Given the description of an element on the screen output the (x, y) to click on. 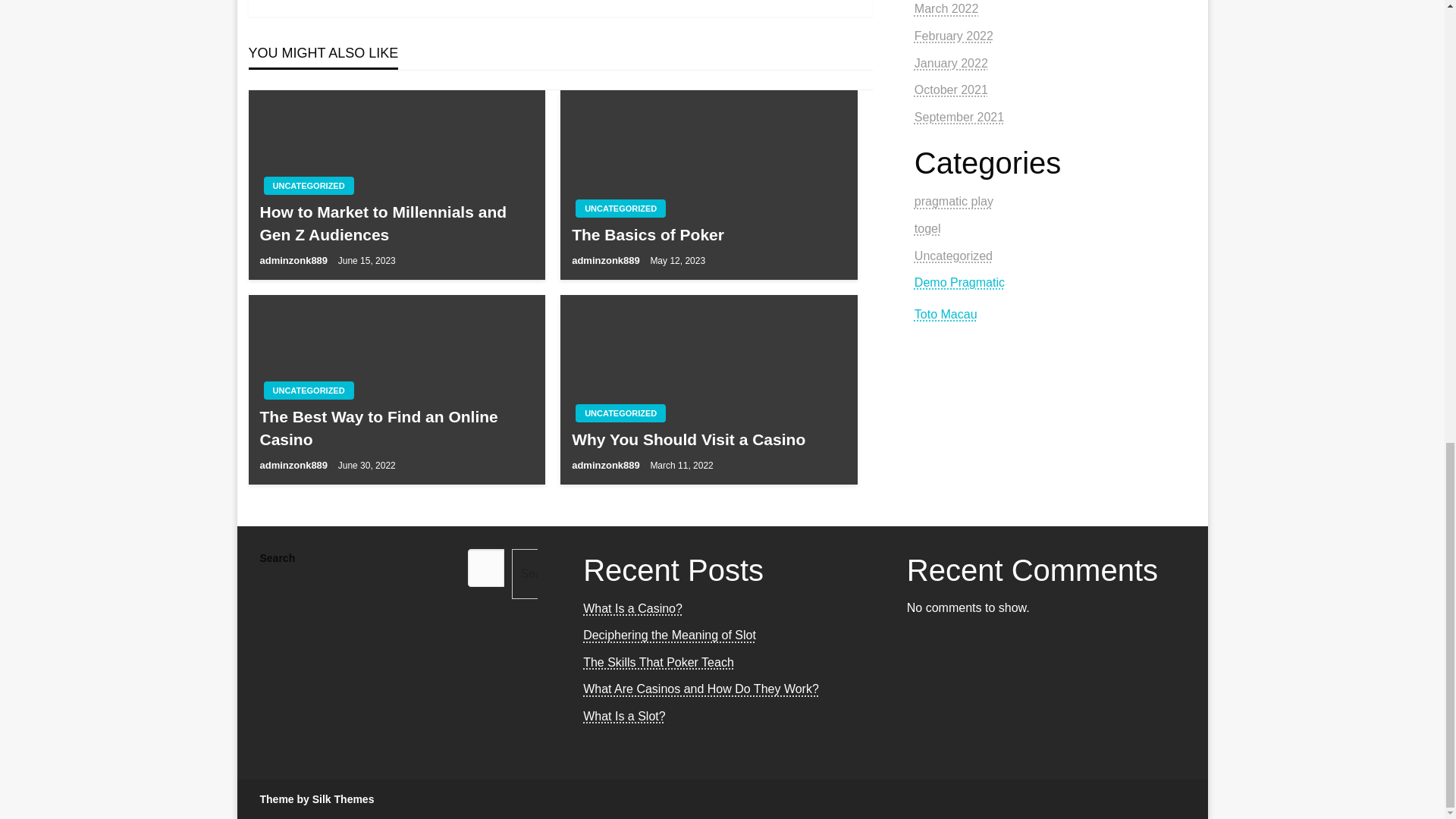
adminzonk889 (607, 260)
The Best Way to Find an Online Casino (396, 427)
adminzonk889 (607, 464)
How to Market to Millennials and Gen Z Audiences (396, 222)
adminzonk889 (294, 464)
UNCATEGORIZED (620, 413)
The Basics of Poker (708, 234)
UNCATEGORIZED (308, 390)
adminzonk889 (294, 260)
Why You Should Visit a Casino (708, 439)
UNCATEGORIZED (620, 208)
UNCATEGORIZED (308, 185)
